Given the description of an element on the screen output the (x, y) to click on. 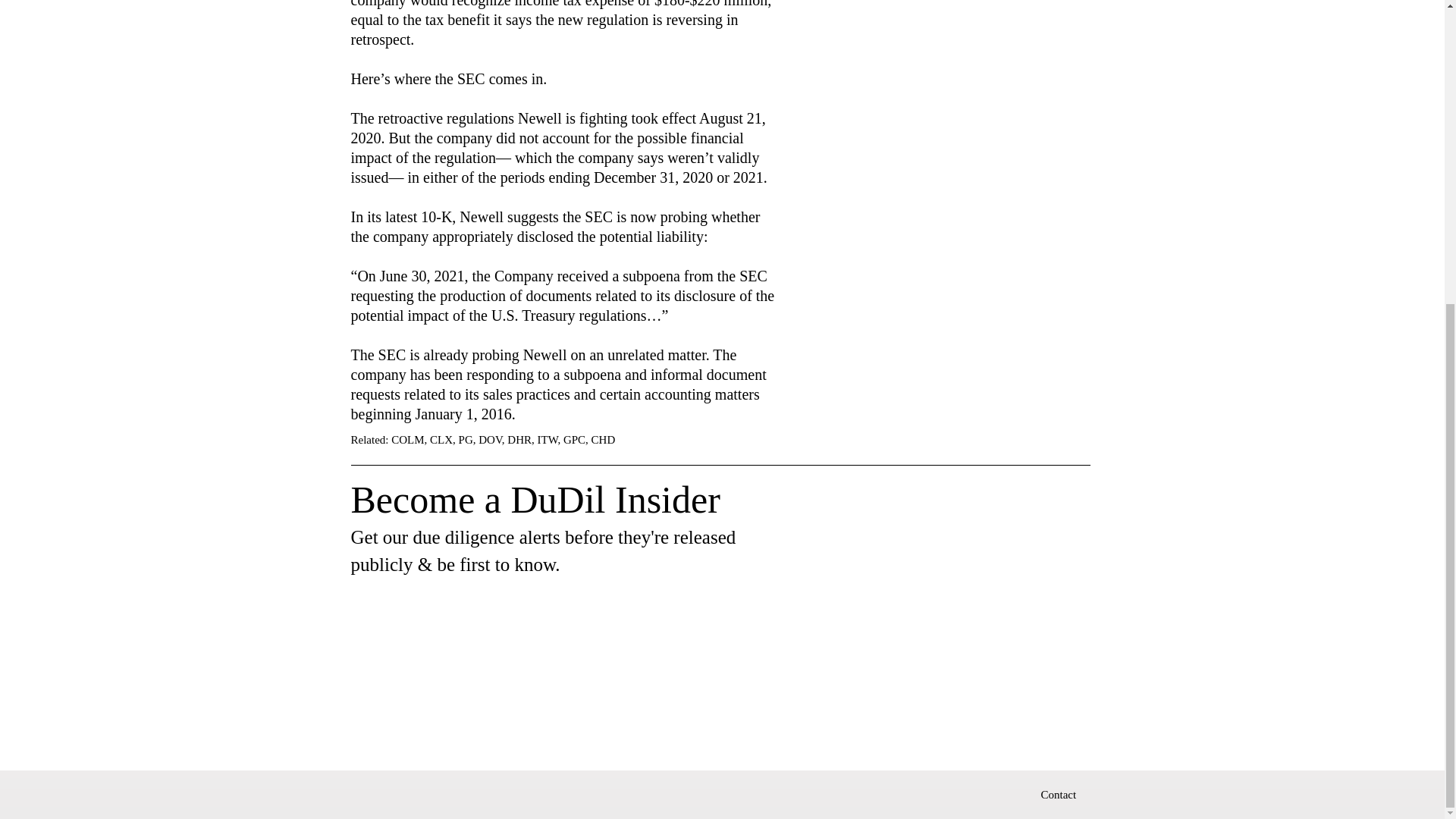
Contact (1058, 793)
